Given the description of an element on the screen output the (x, y) to click on. 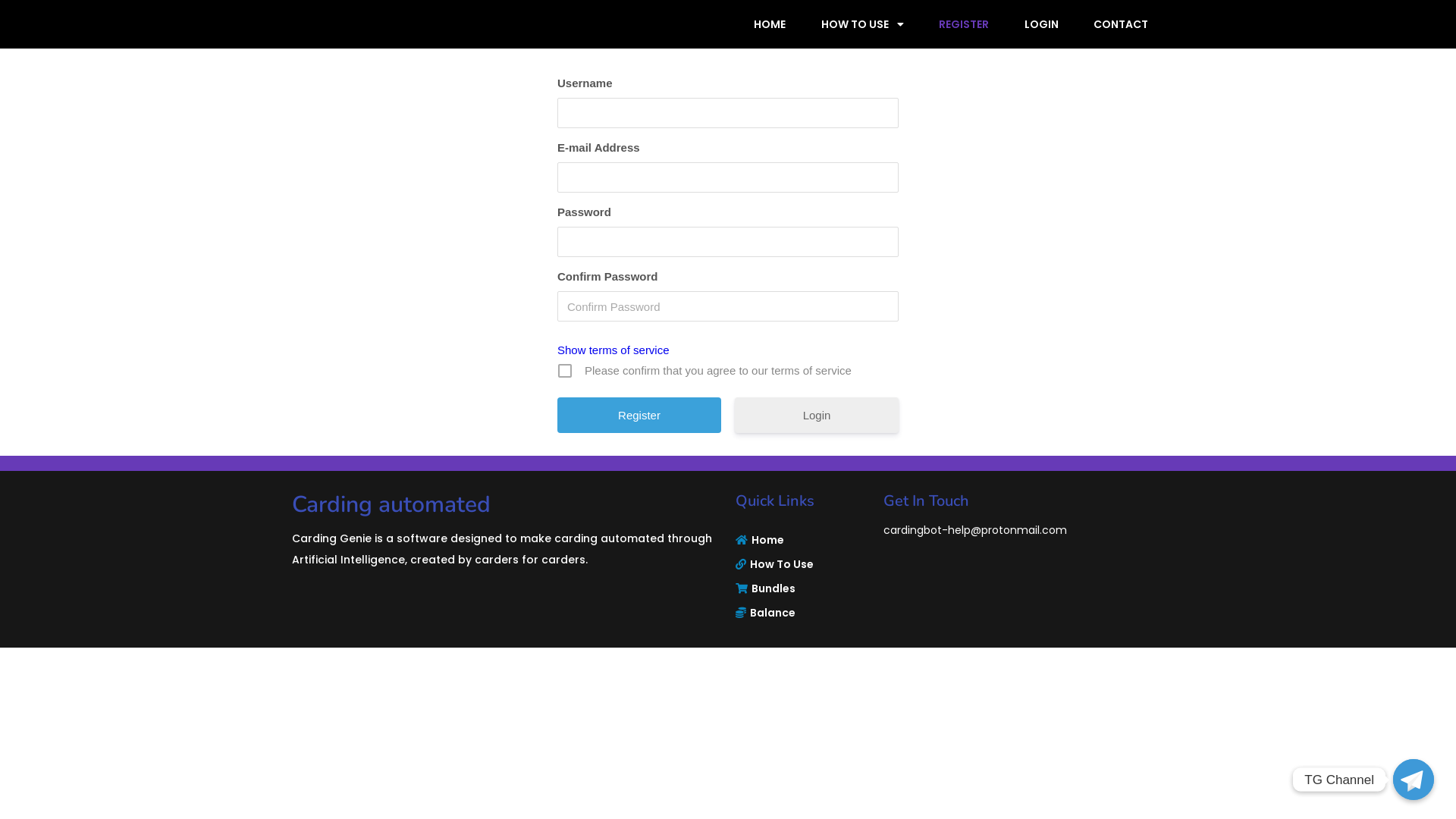
REGISTER Element type: text (963, 24)
cardingbot-help@protonmail.com Element type: text (974, 530)
Bundles Element type: text (801, 588)
Show terms of service Element type: text (613, 349)
Home Element type: text (801, 539)
Login Element type: text (816, 415)
CONTACT Element type: text (1120, 24)
Carding automated Element type: text (505, 504)
LOGIN Element type: text (1041, 24)
Register Element type: text (639, 415)
HOME Element type: text (769, 24)
How To Use Element type: text (801, 564)
Balance Element type: text (801, 612)
TG Channel Element type: text (1413, 779)
HOW TO USE Element type: text (862, 24)
